Given the description of an element on the screen output the (x, y) to click on. 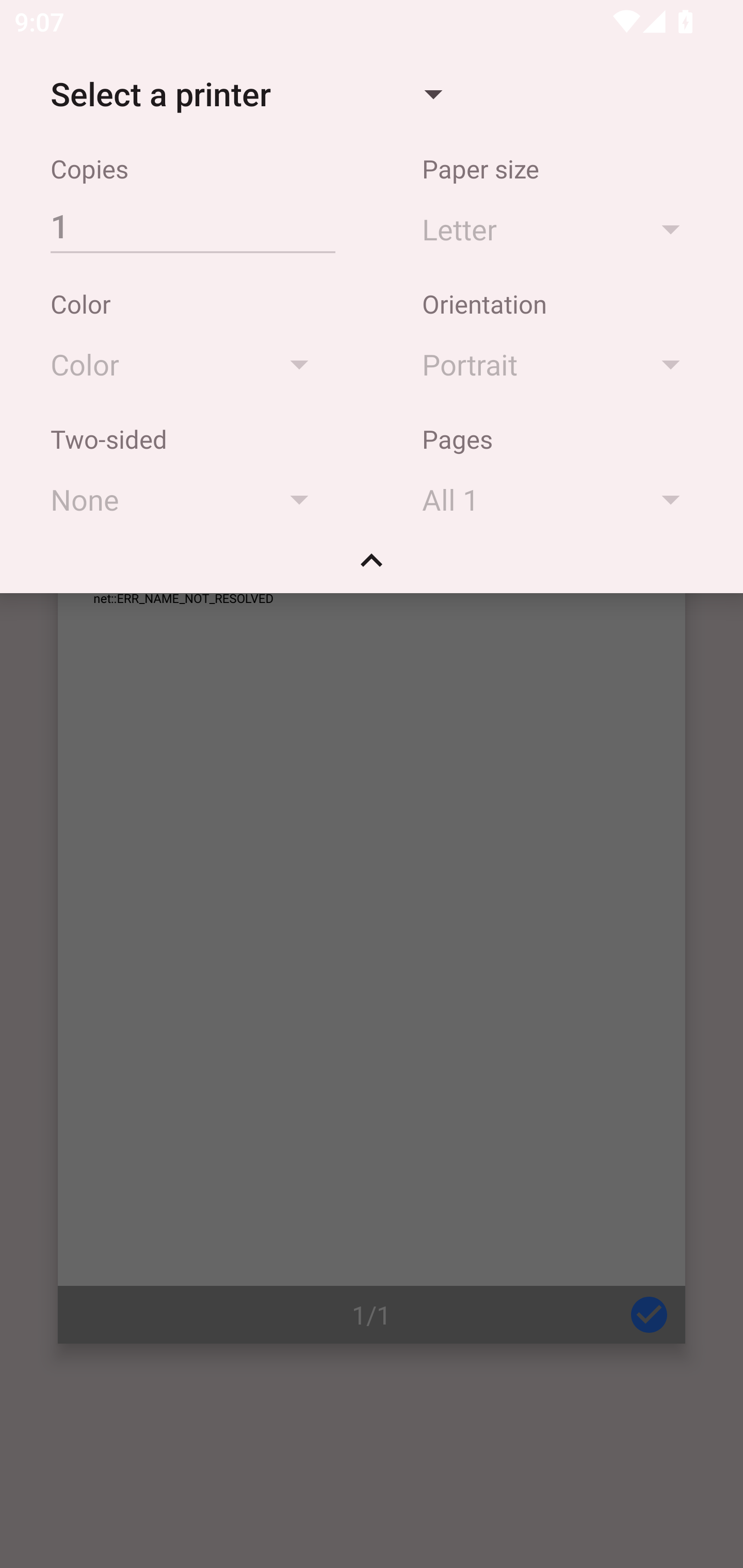
Select a printer (245, 93)
1 (192, 225)
Letter (560, 228)
Color (189, 364)
Portrait (560, 364)
None (189, 499)
All 1 (560, 499)
Collapse handle (371, 567)
